Given the description of an element on the screen output the (x, y) to click on. 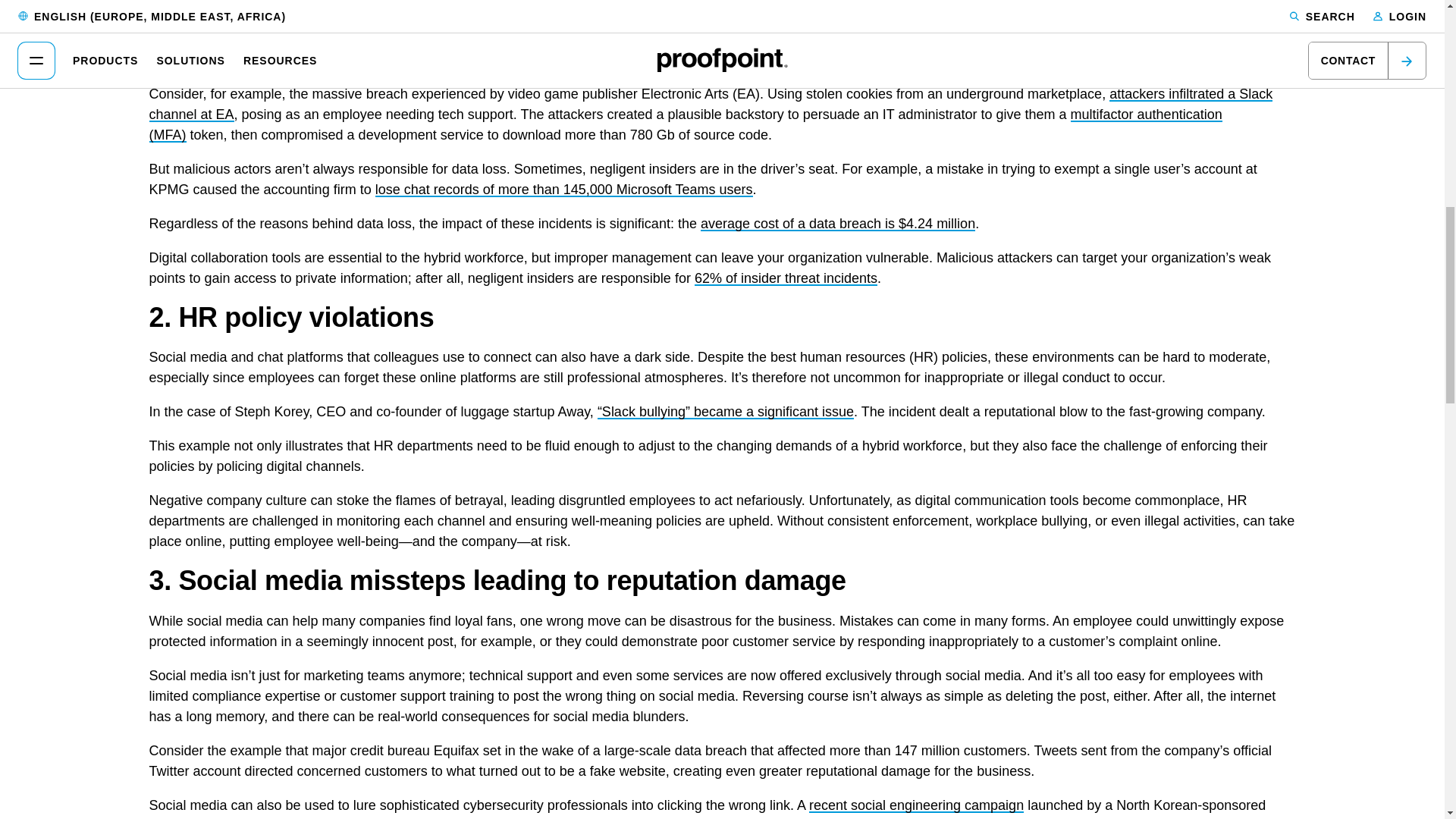
Multifactor Authentication (684, 124)
